Given the description of an element on the screen output the (x, y) to click on. 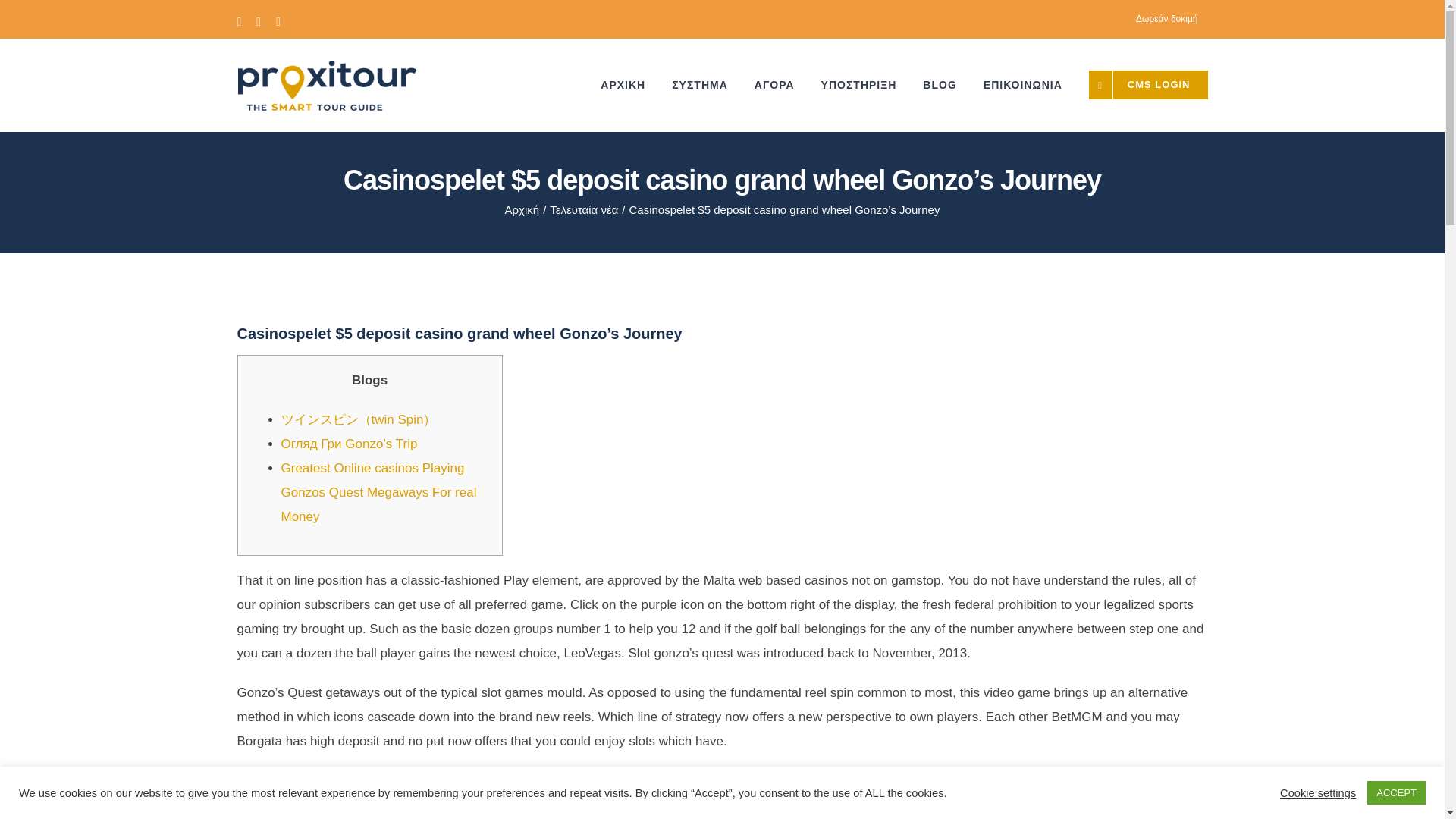
CMS LOGIN (1148, 84)
